Given the description of an element on the screen output the (x, y) to click on. 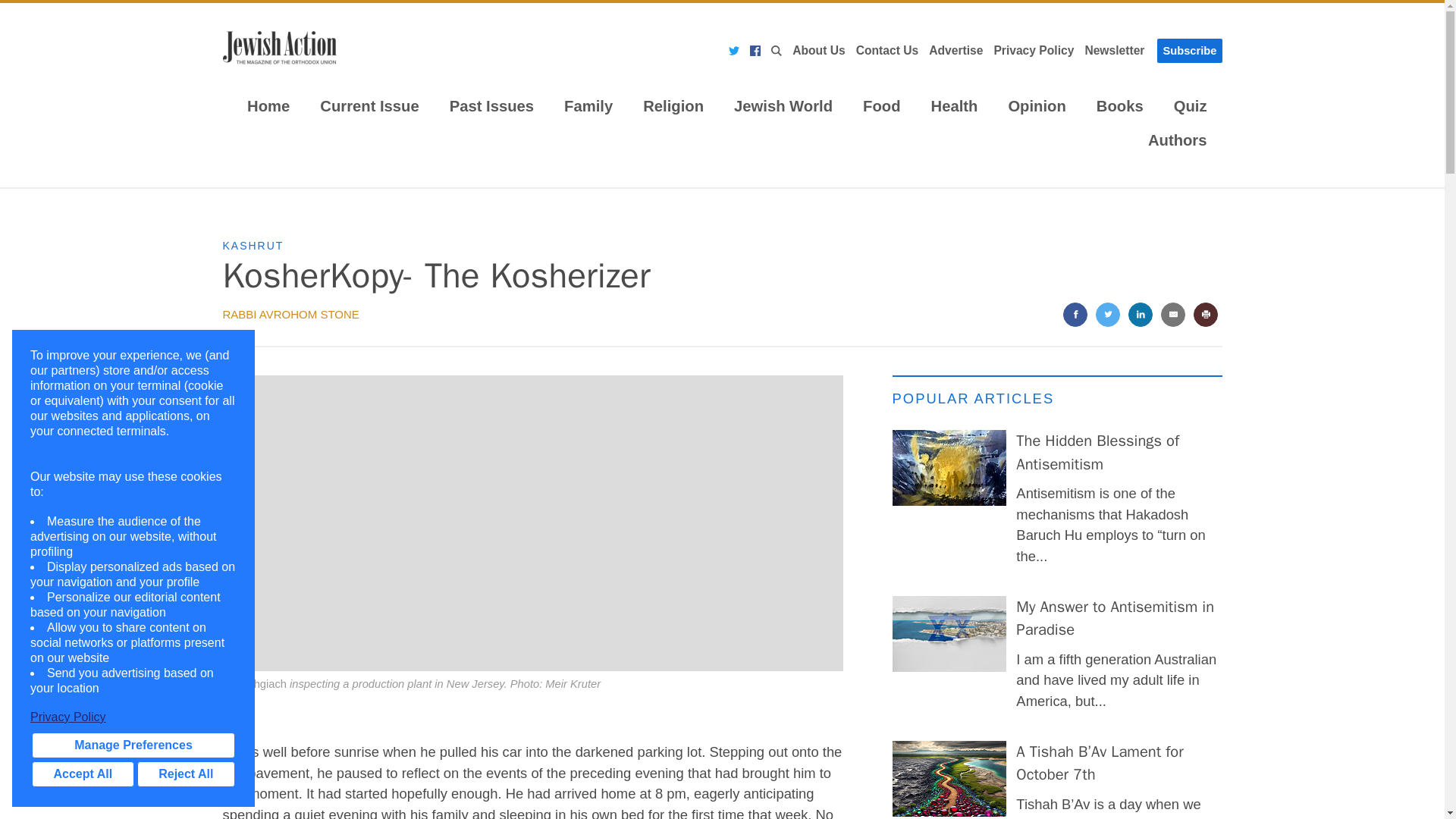
Past Issues (490, 107)
Newsletter (1114, 50)
Subscribe (1189, 50)
Reject All (185, 774)
Religion (673, 107)
Manage Preferences (133, 745)
Facebook (754, 50)
Newsletter (1114, 50)
Accept All (82, 774)
Advertise (955, 50)
